Given the description of an element on the screen output the (x, y) to click on. 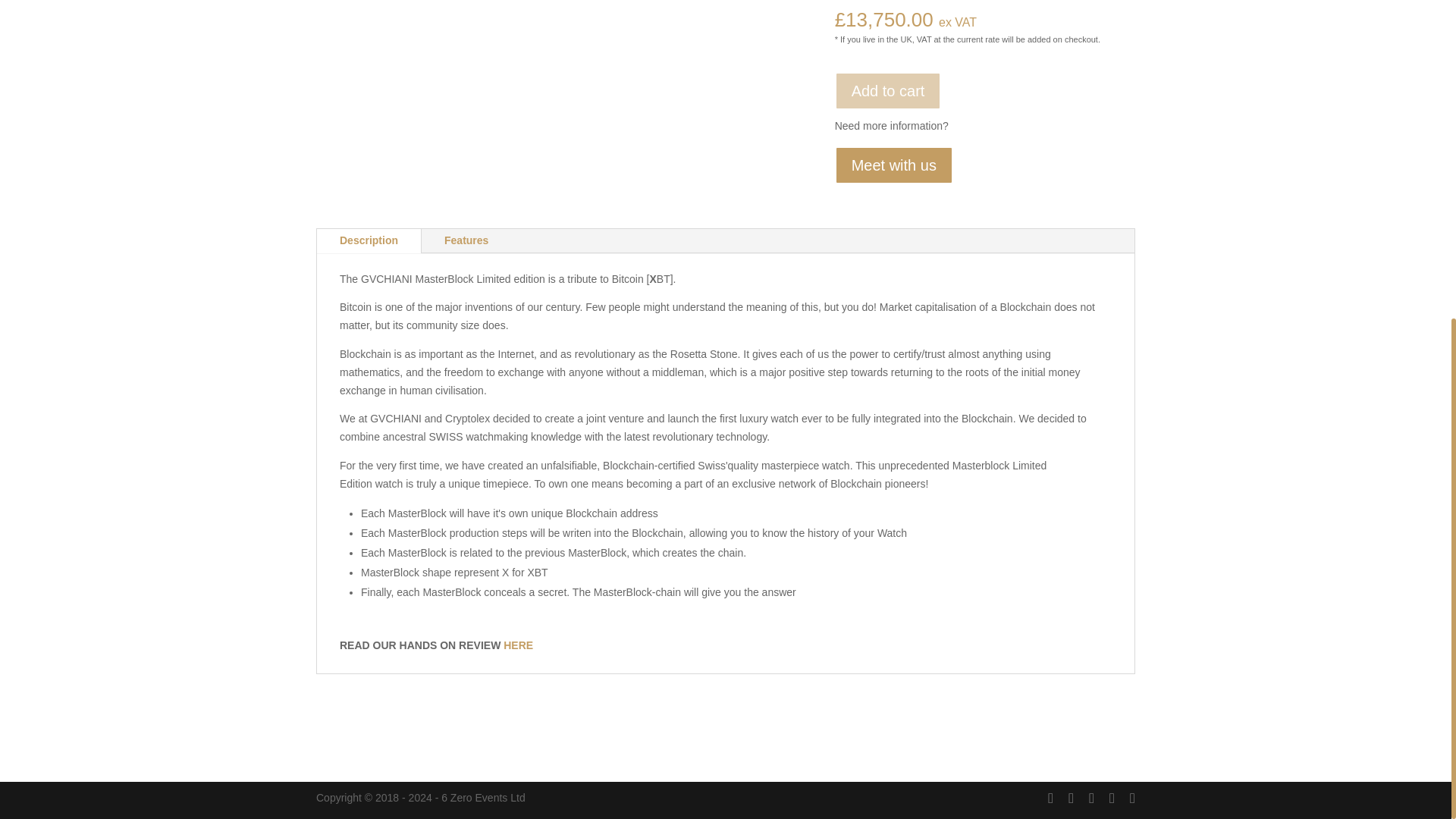
HERE (517, 645)
Features (466, 241)
Description (368, 241)
Add to cart (888, 90)
Meet with us (893, 165)
